Given the description of an element on the screen output the (x, y) to click on. 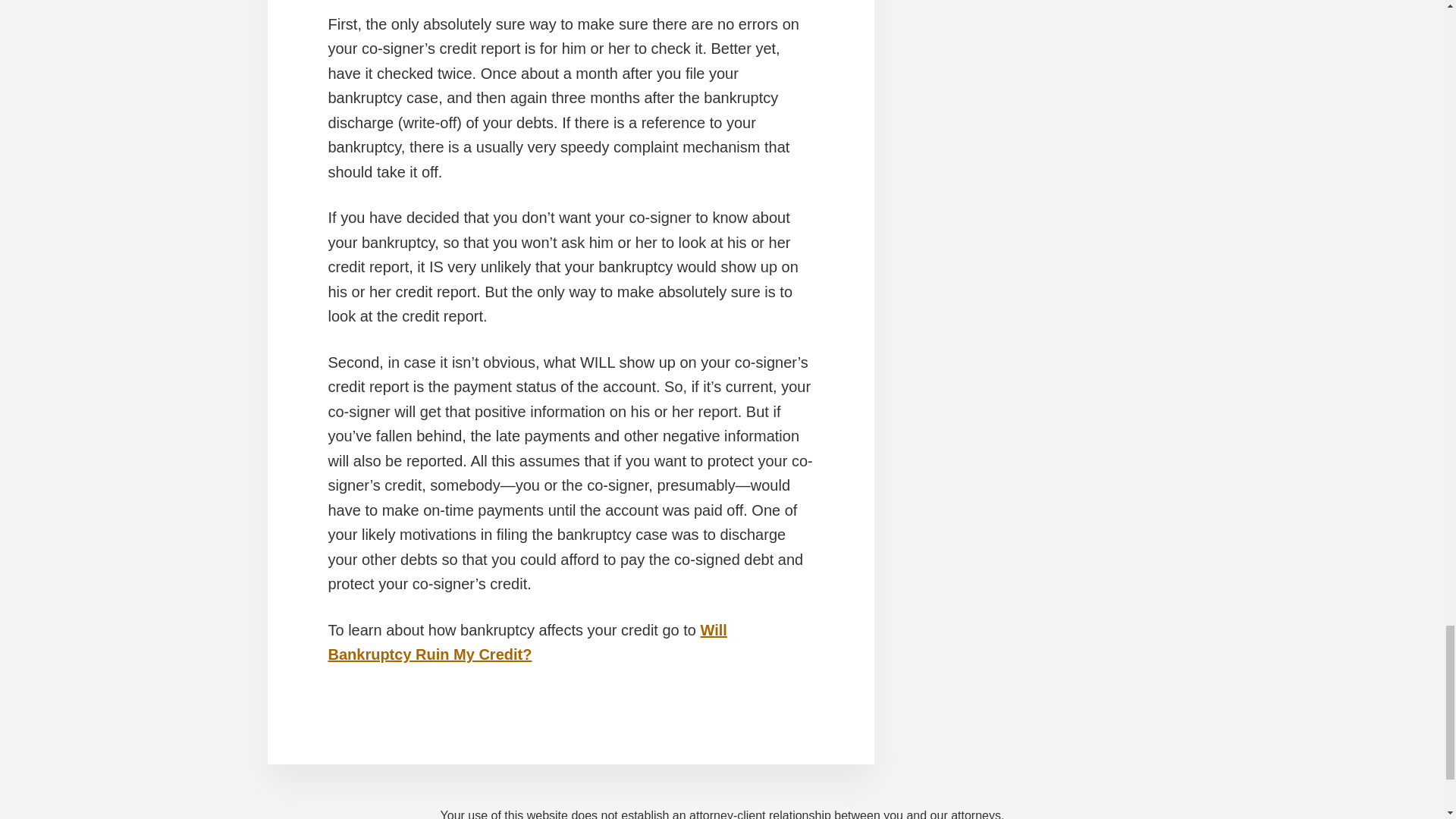
Will Bankruptcy Ruin My Credit? (526, 642)
